Given the description of an element on the screen output the (x, y) to click on. 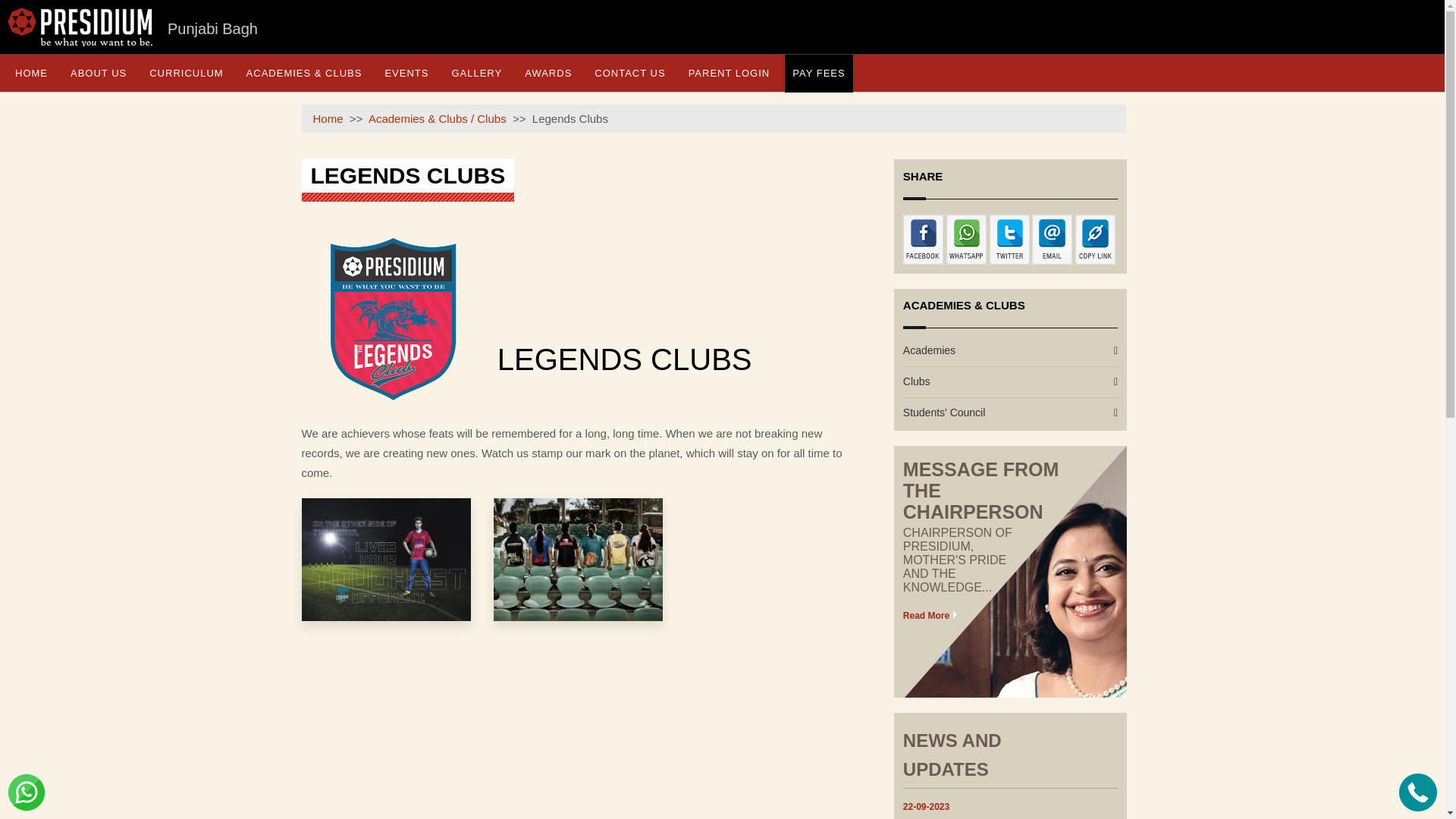
Home (327, 118)
PAY FEES (817, 72)
ABOUT US (97, 72)
PARENT LOGIN (729, 72)
GALLERY (476, 72)
CONTACT US (629, 72)
EVENTS (406, 72)
HOME (31, 72)
CURRICULUM (185, 72)
Call Us (1418, 792)
